Given the description of an element on the screen output the (x, y) to click on. 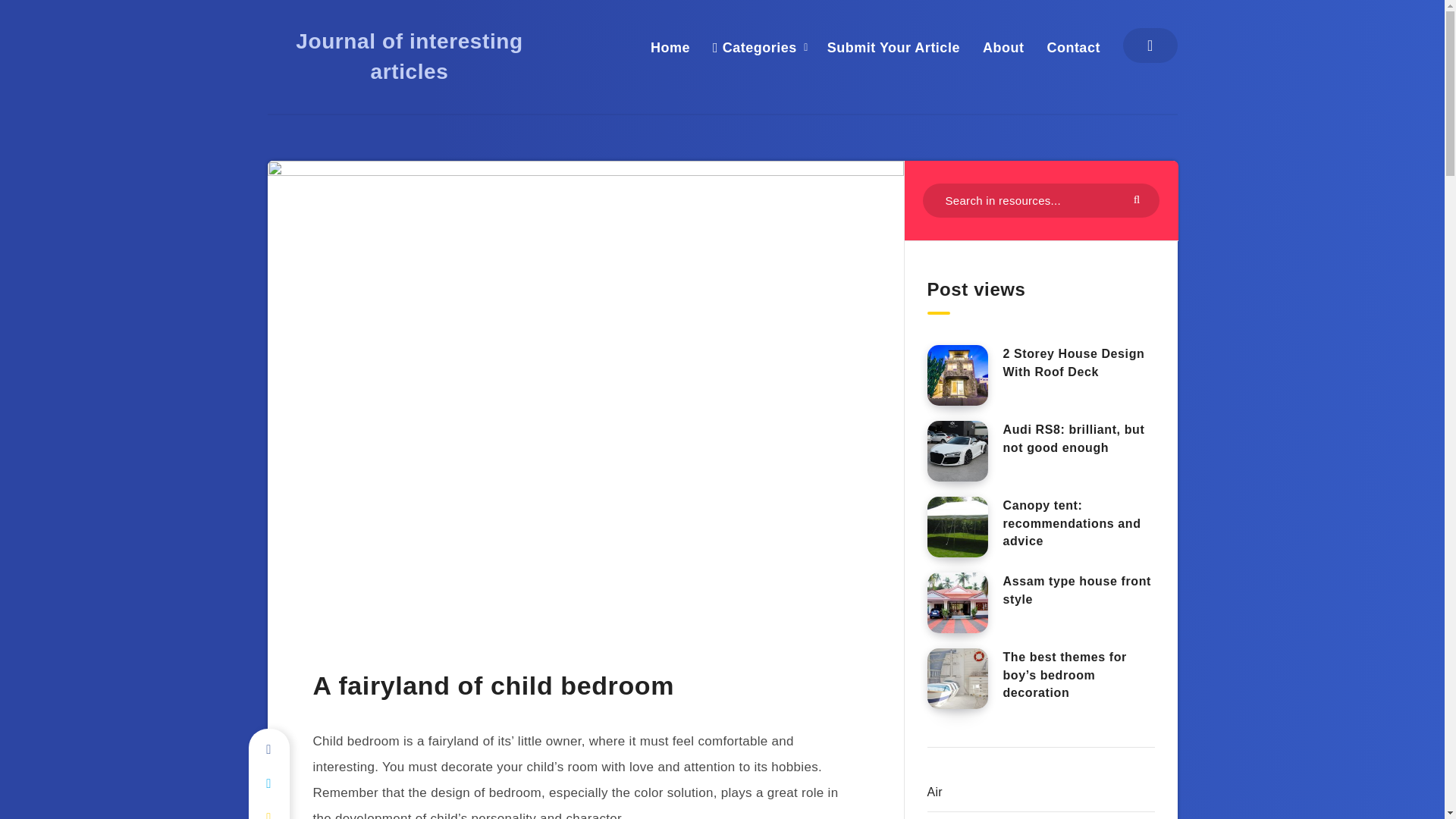
About (1002, 47)
Home (670, 47)
Journal of interesting articles (408, 56)
Categories (754, 47)
Contact (1073, 47)
Submit Your Article (893, 47)
